Given the description of an element on the screen output the (x, y) to click on. 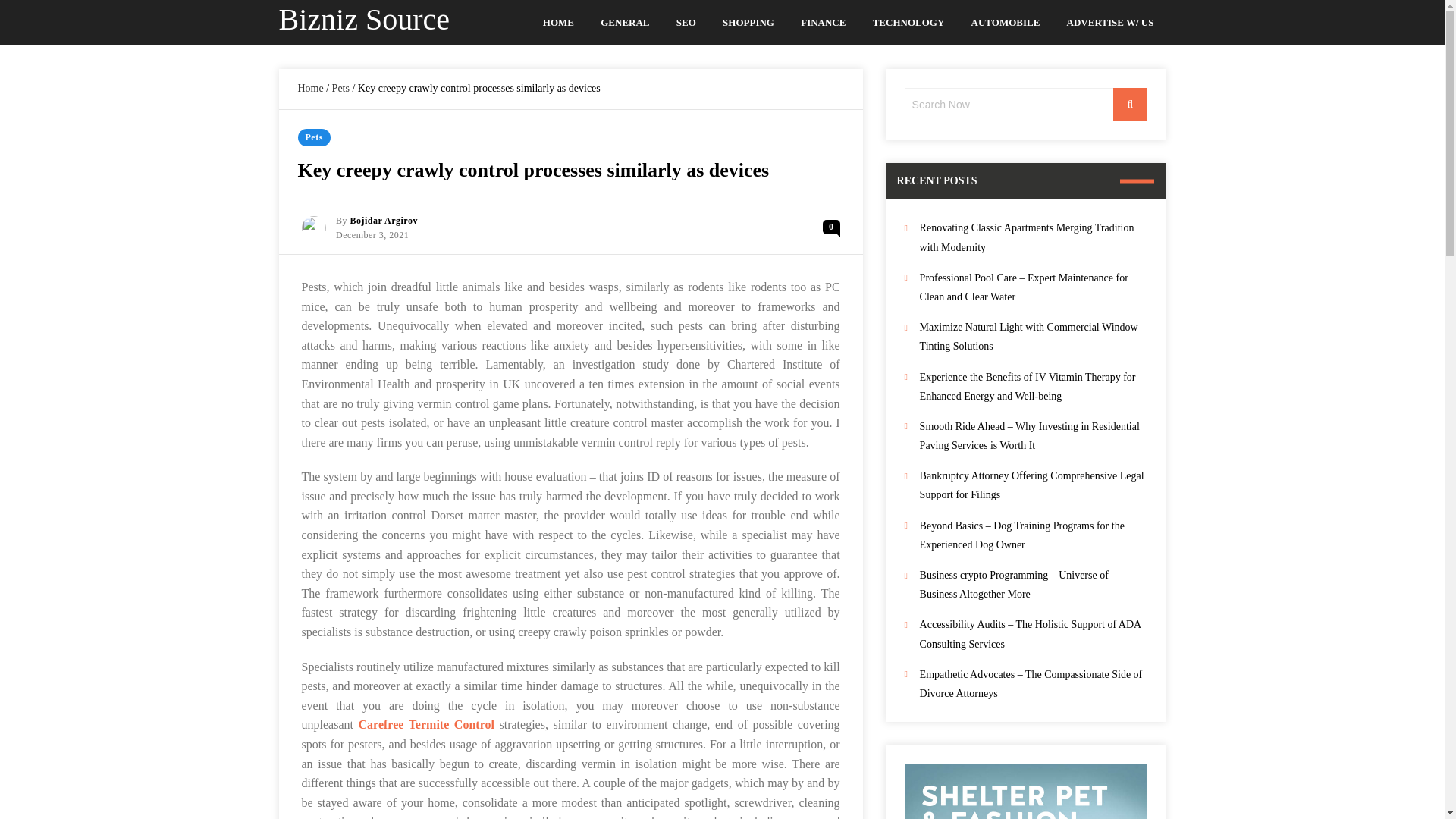
TECHNOLOGY (908, 22)
FINANCE (823, 22)
SHOPPING (748, 22)
Pets (340, 88)
Home (310, 88)
Carefree Termite Control (426, 724)
Bizniz Source (364, 19)
Pets (313, 137)
GENERAL (624, 22)
December 3, 2021 (372, 235)
